Given the description of an element on the screen output the (x, y) to click on. 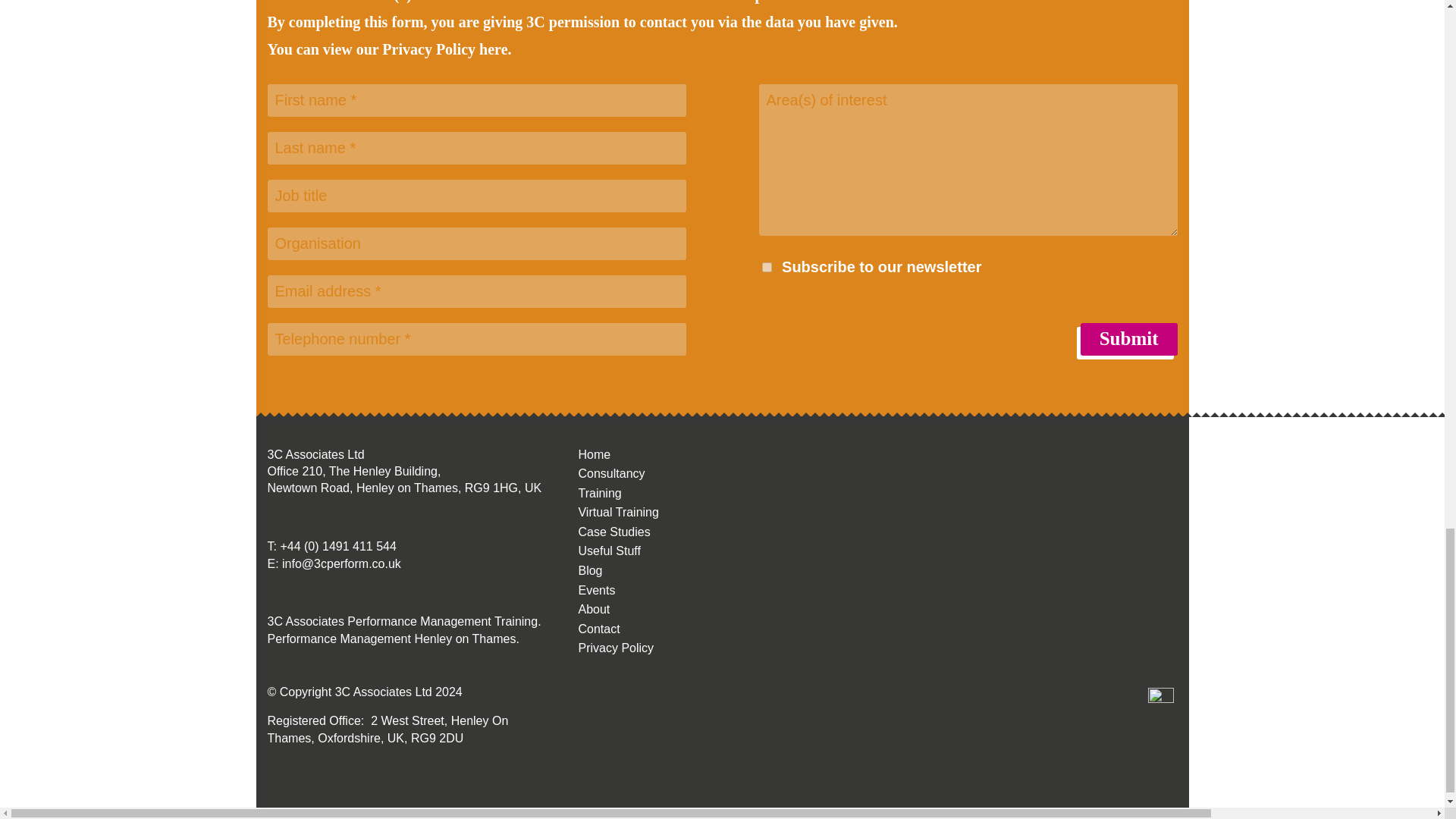
Virtual Training (618, 512)
here. (495, 48)
Case Studies (613, 531)
Job title (475, 195)
Contact (599, 628)
checked (766, 266)
Consultancy (611, 472)
Home (594, 454)
Organisation (475, 243)
icon-linkedin (1160, 700)
